Given the description of an element on the screen output the (x, y) to click on. 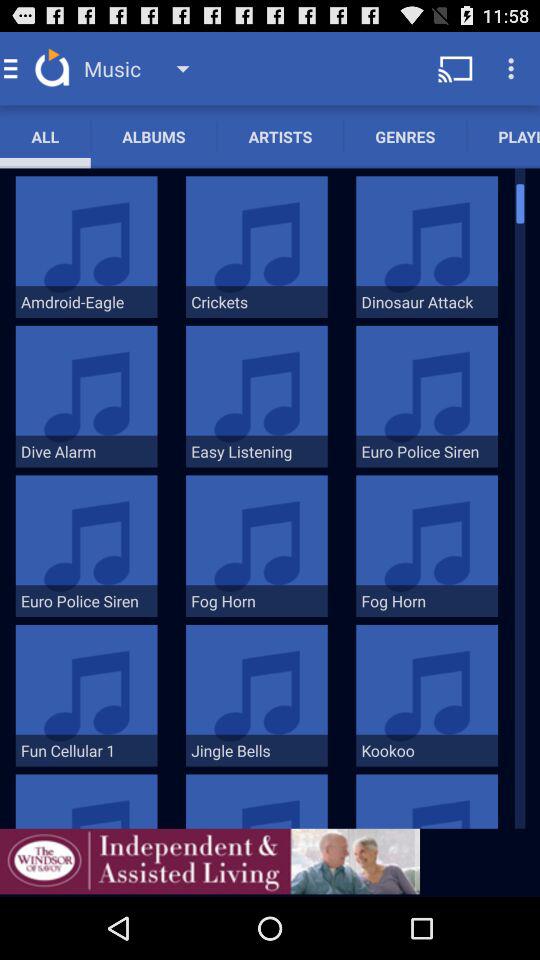
advertisement (210, 861)
